Given the description of an element on the screen output the (x, y) to click on. 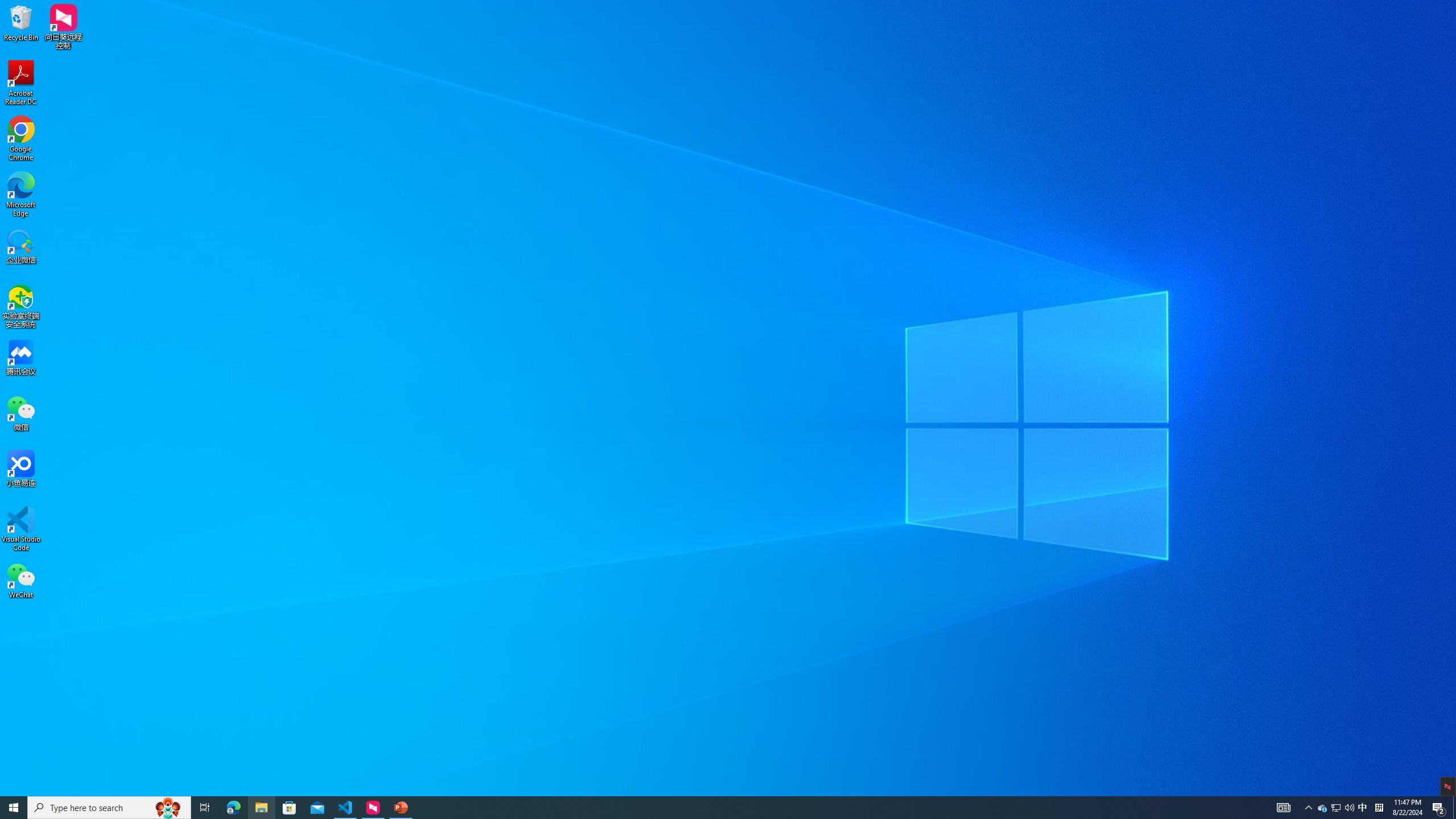
Accessibility Checker Accessibility: Good to go (226, 790)
Picture Format (475, 28)
Italic (195, 67)
